Given the description of an element on the screen output the (x, y) to click on. 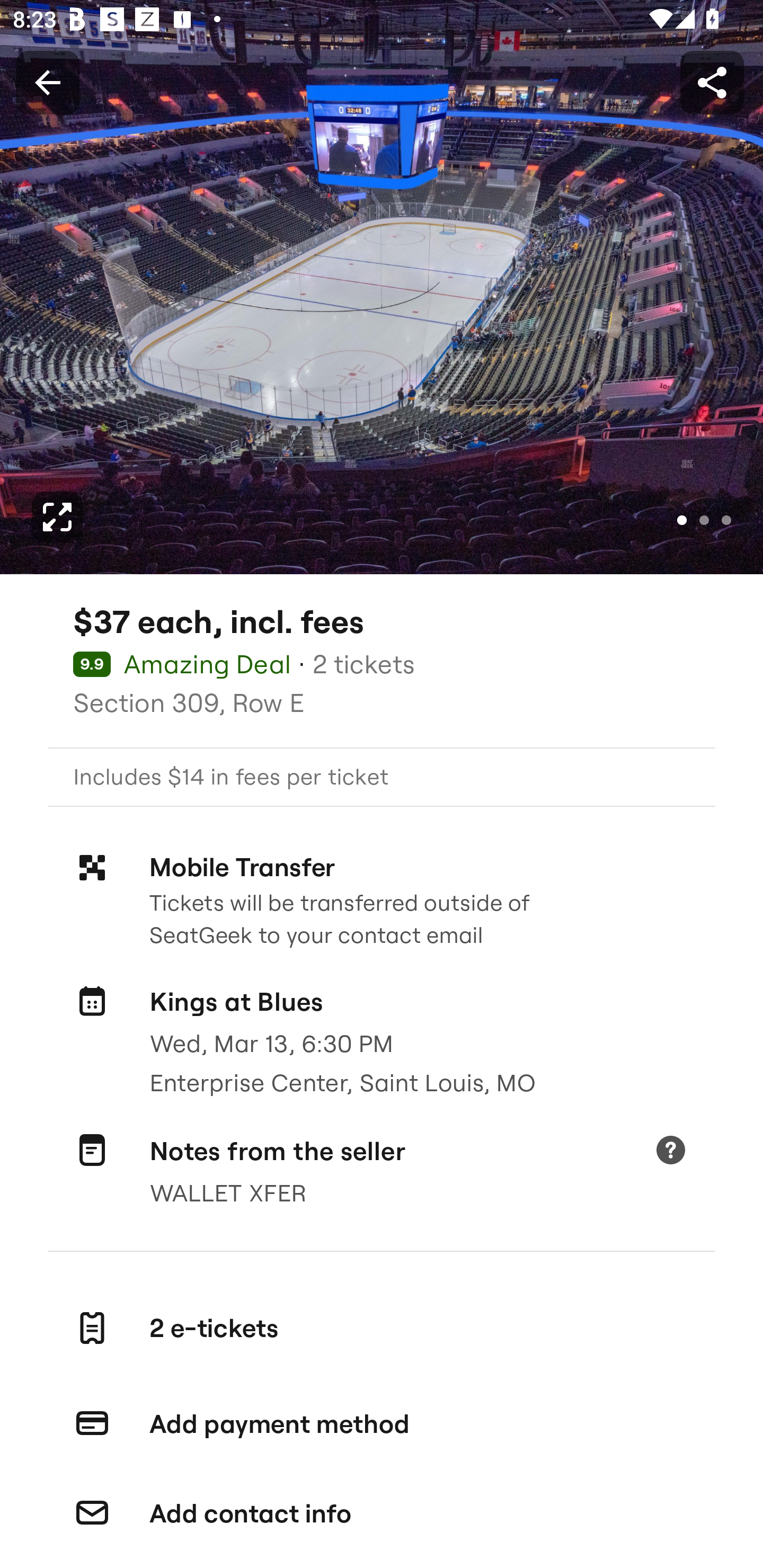
Back (47, 81)
Share (711, 81)
Expand image to fullscreen (57, 517)
Learn more (670, 1151)
2 e-tickets (381, 1328)
Add payment method (381, 1424)
Add contact info (381, 1513)
